Given the description of an element on the screen output the (x, y) to click on. 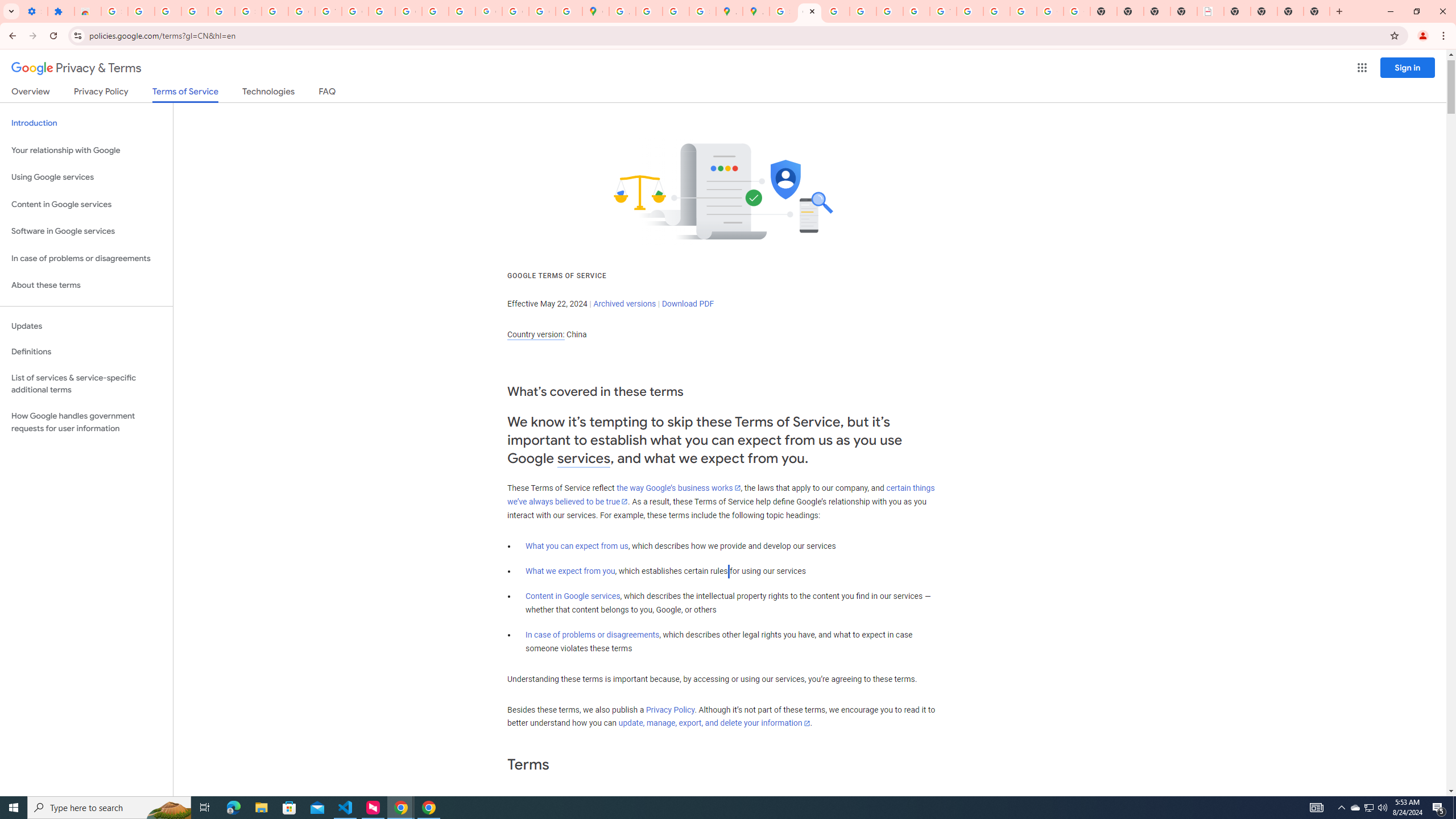
Your relationship with Google (86, 150)
Software in Google services (86, 230)
Reviews: Helix Fruit Jump Arcade Game (87, 11)
Google Maps (595, 11)
